Given the description of an element on the screen output the (x, y) to click on. 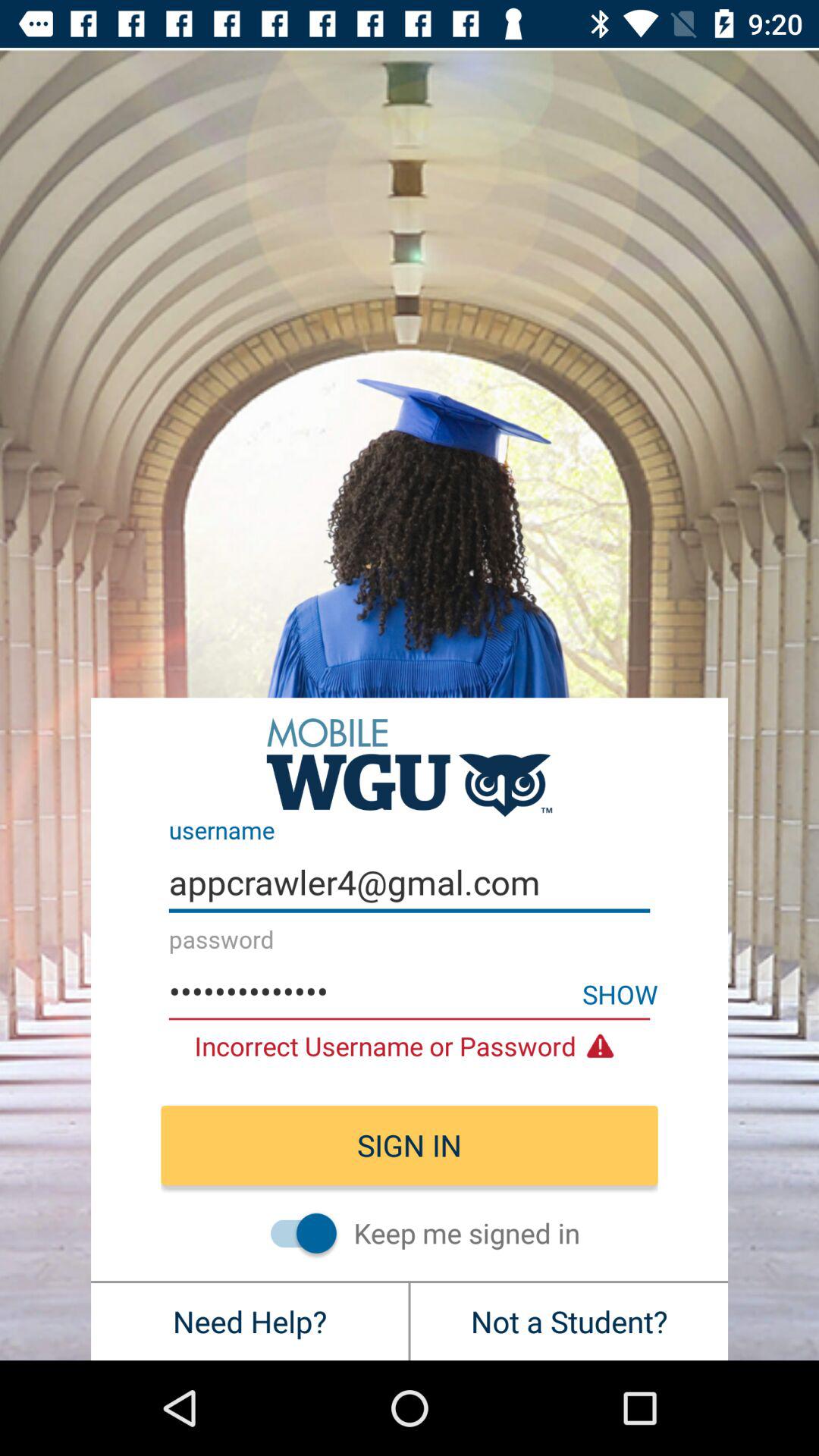
press the need help? item (249, 1321)
